Given the description of an element on the screen output the (x, y) to click on. 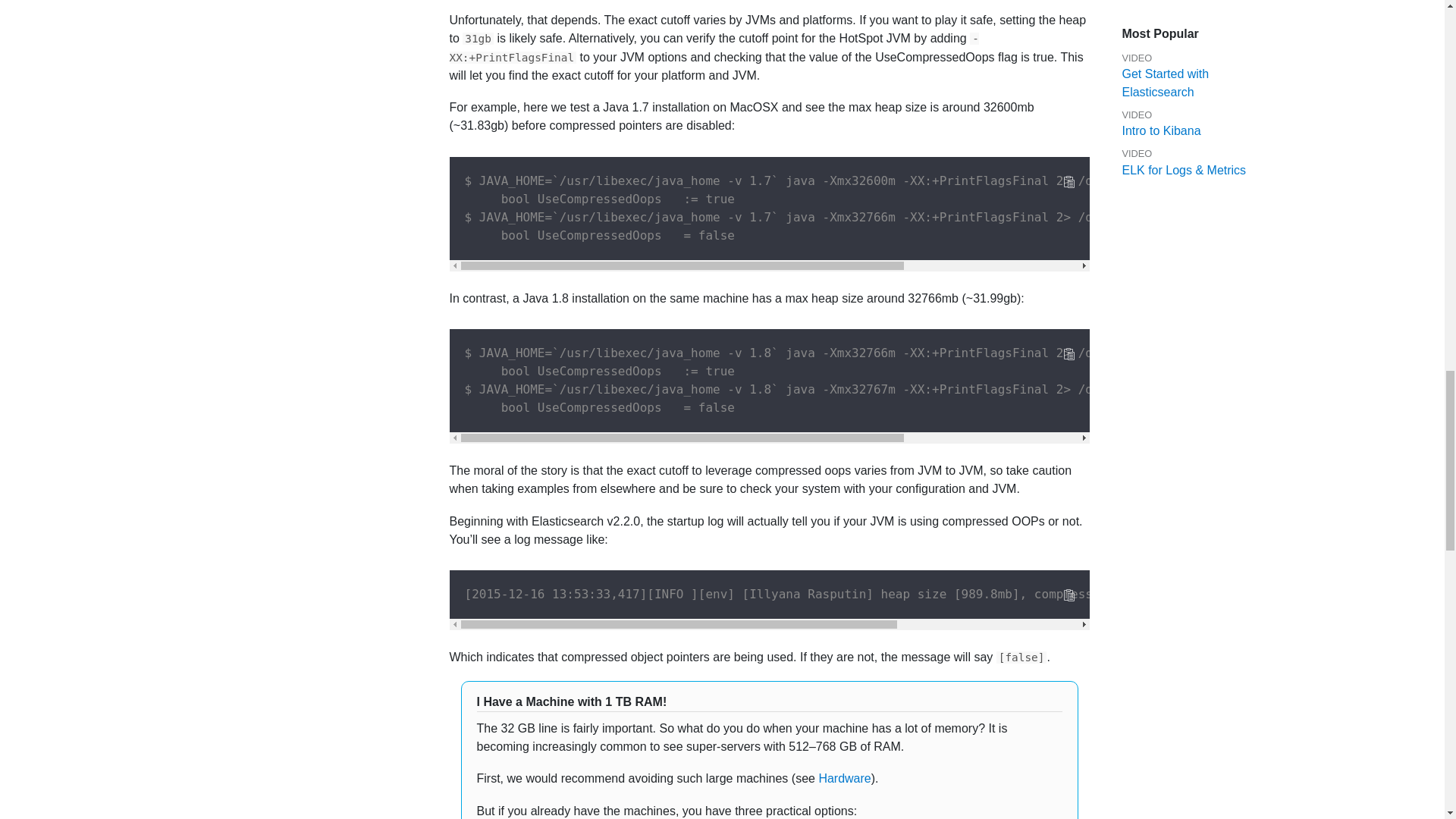
Copy to clipboard (1068, 182)
Copy to clipboard (1068, 594)
Hardware (844, 778)
Copy to clipboard (1068, 354)
